Given the description of an element on the screen output the (x, y) to click on. 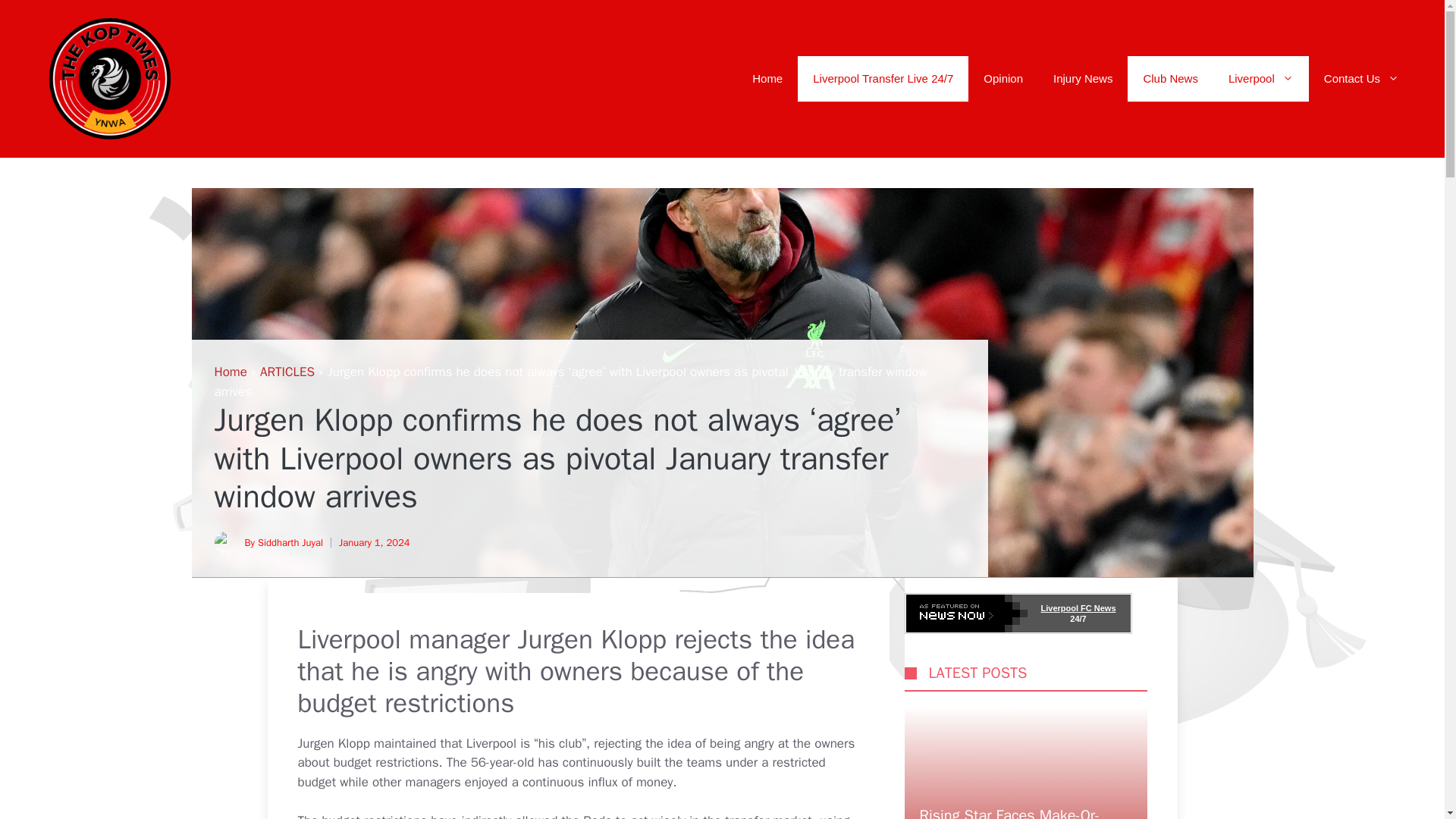
Injury News (1082, 78)
Home (766, 78)
Click here for more Liverpool FC news from NewsNow (1017, 612)
Home (230, 371)
Siddharth Juyal (290, 542)
Club News (1169, 78)
Opinion (1003, 78)
ARTICLES (287, 371)
Contact Us (1360, 78)
Liverpool (1260, 78)
